Given the description of an element on the screen output the (x, y) to click on. 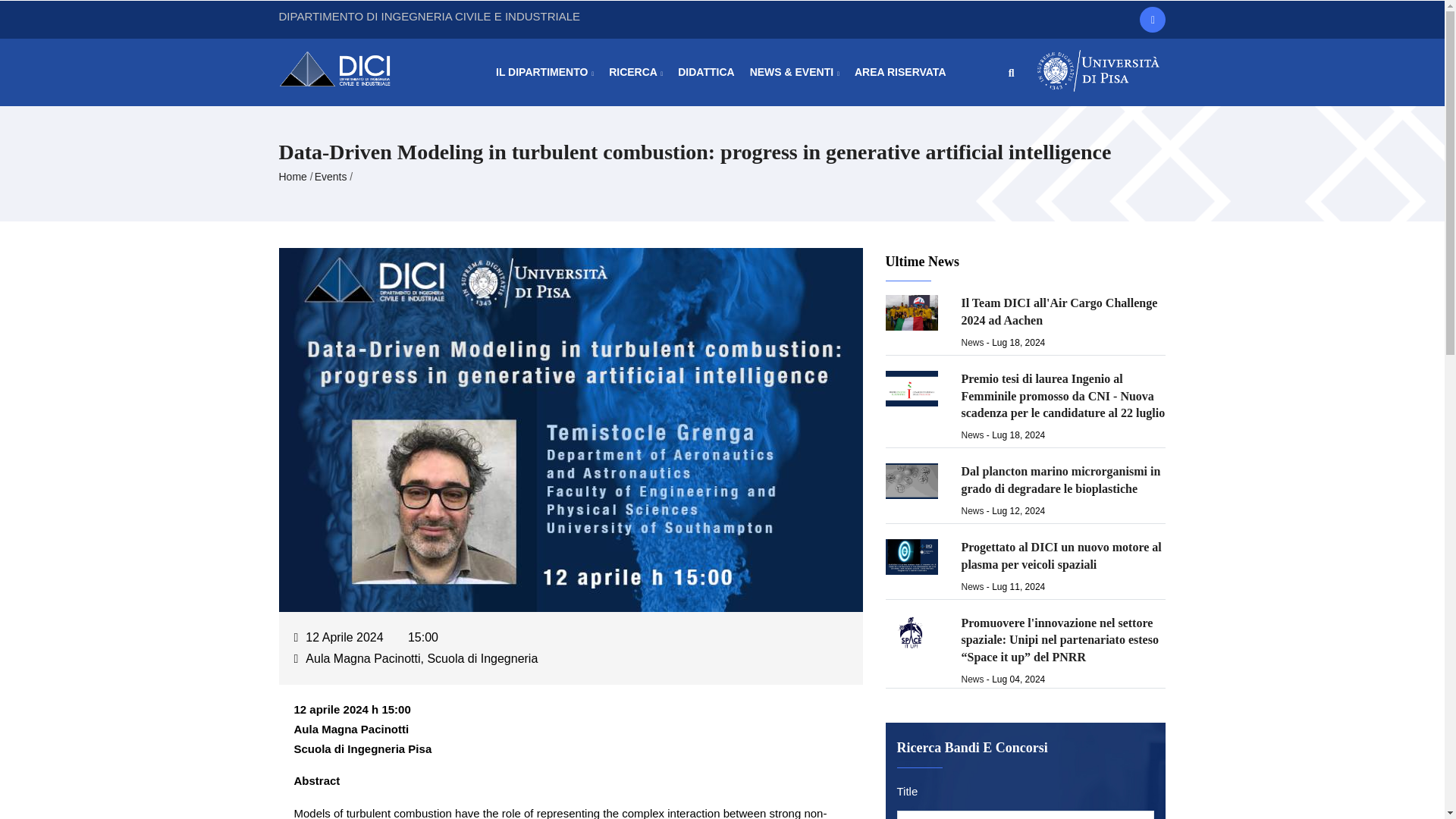
News (972, 511)
News (972, 434)
News (972, 586)
RICERCA (635, 72)
Events (330, 176)
Home (343, 66)
News (972, 342)
AREA RISERVATA (900, 72)
Il Team DICI all'Air Cargo Challenge 2024 ad Aachen (1058, 310)
IL DIPARTIMENTO (544, 72)
News (972, 679)
